Given the description of an element on the screen output the (x, y) to click on. 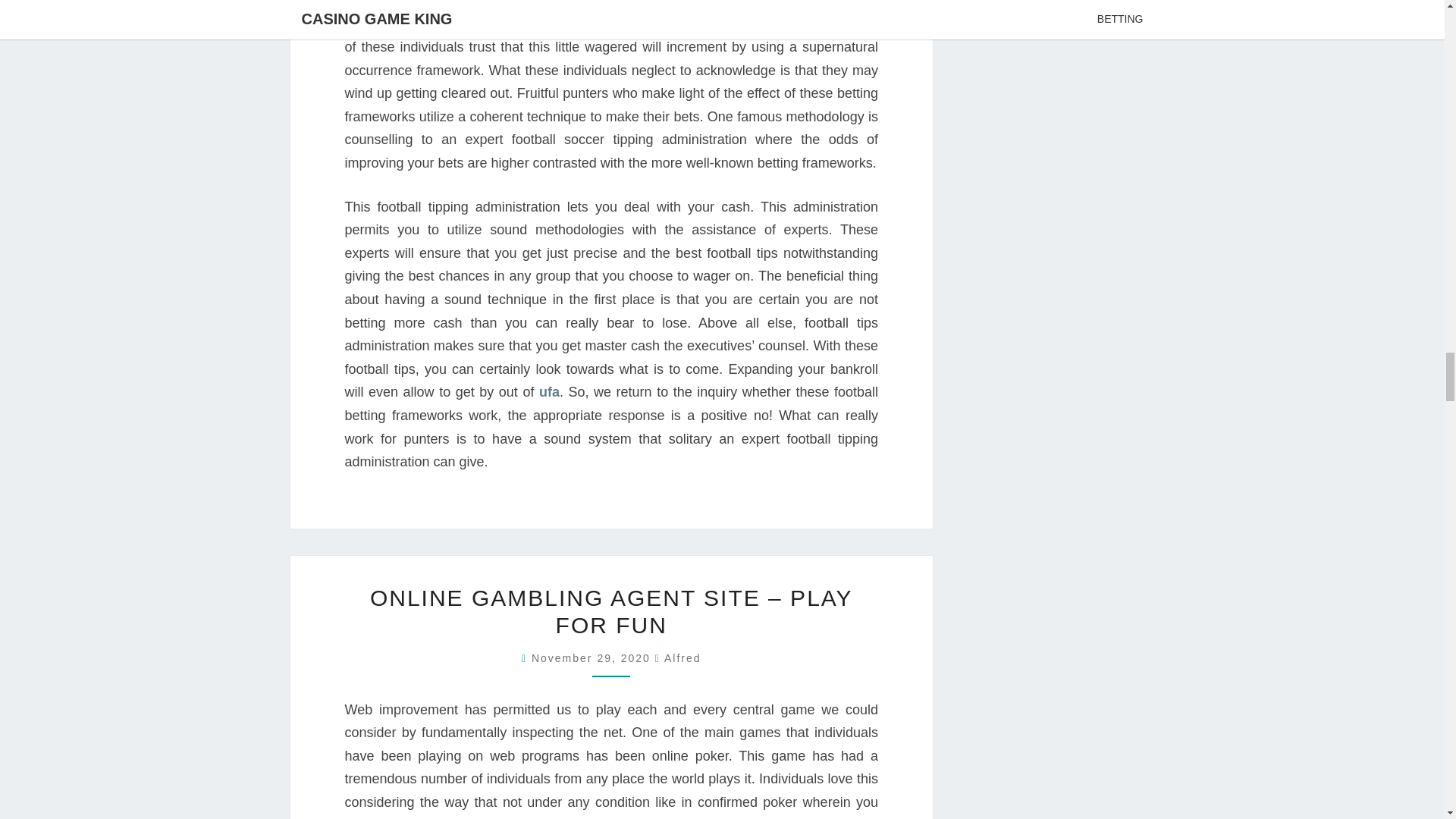
November 29, 2020 (593, 657)
ufa (548, 391)
Alfred (682, 657)
3:57 am (593, 657)
View all posts by Alfred (682, 657)
